Given the description of an element on the screen output the (x, y) to click on. 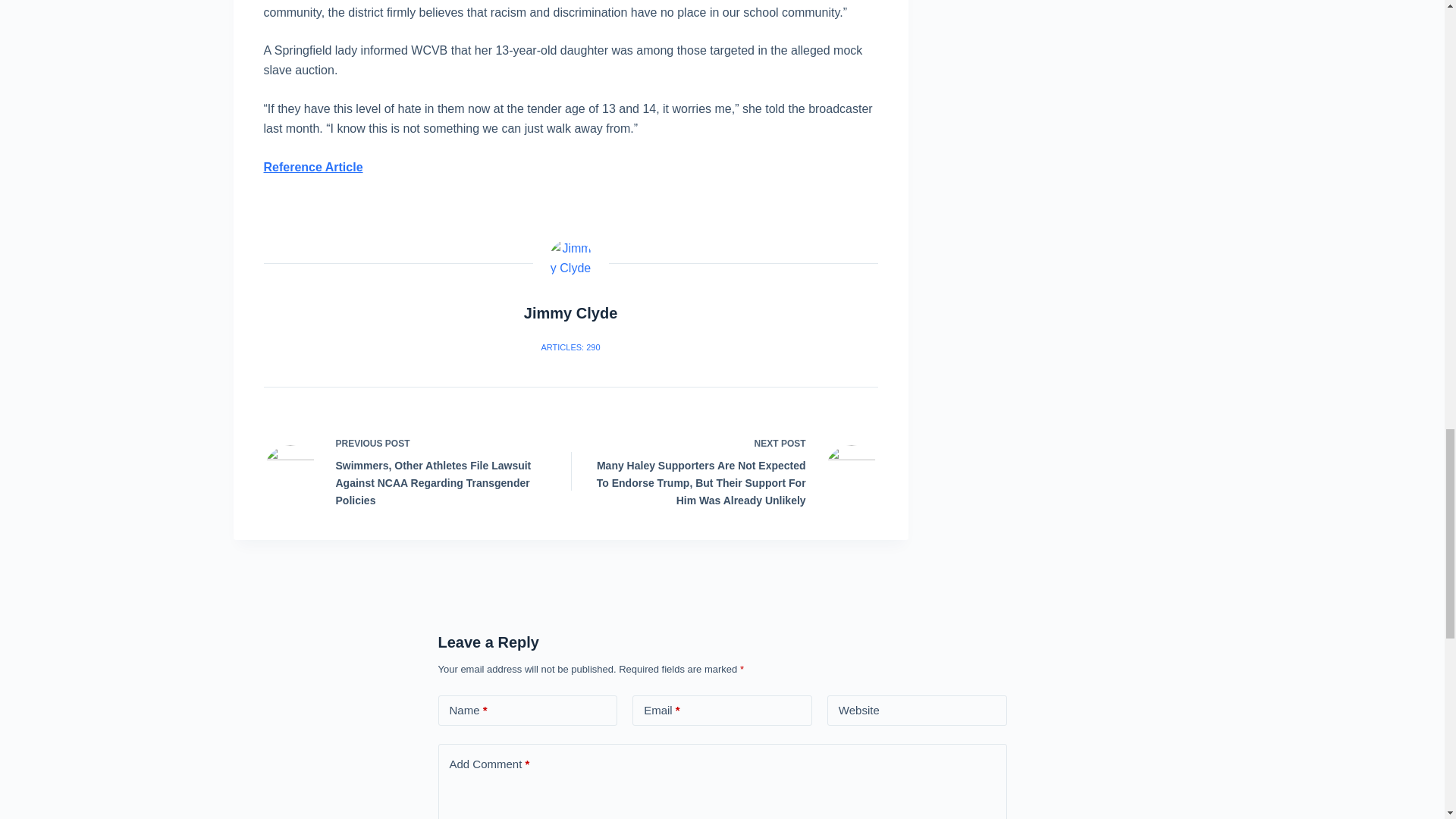
ARTICLES: 290 (570, 346)
Reference Article (312, 166)
